Given the description of an element on the screen output the (x, y) to click on. 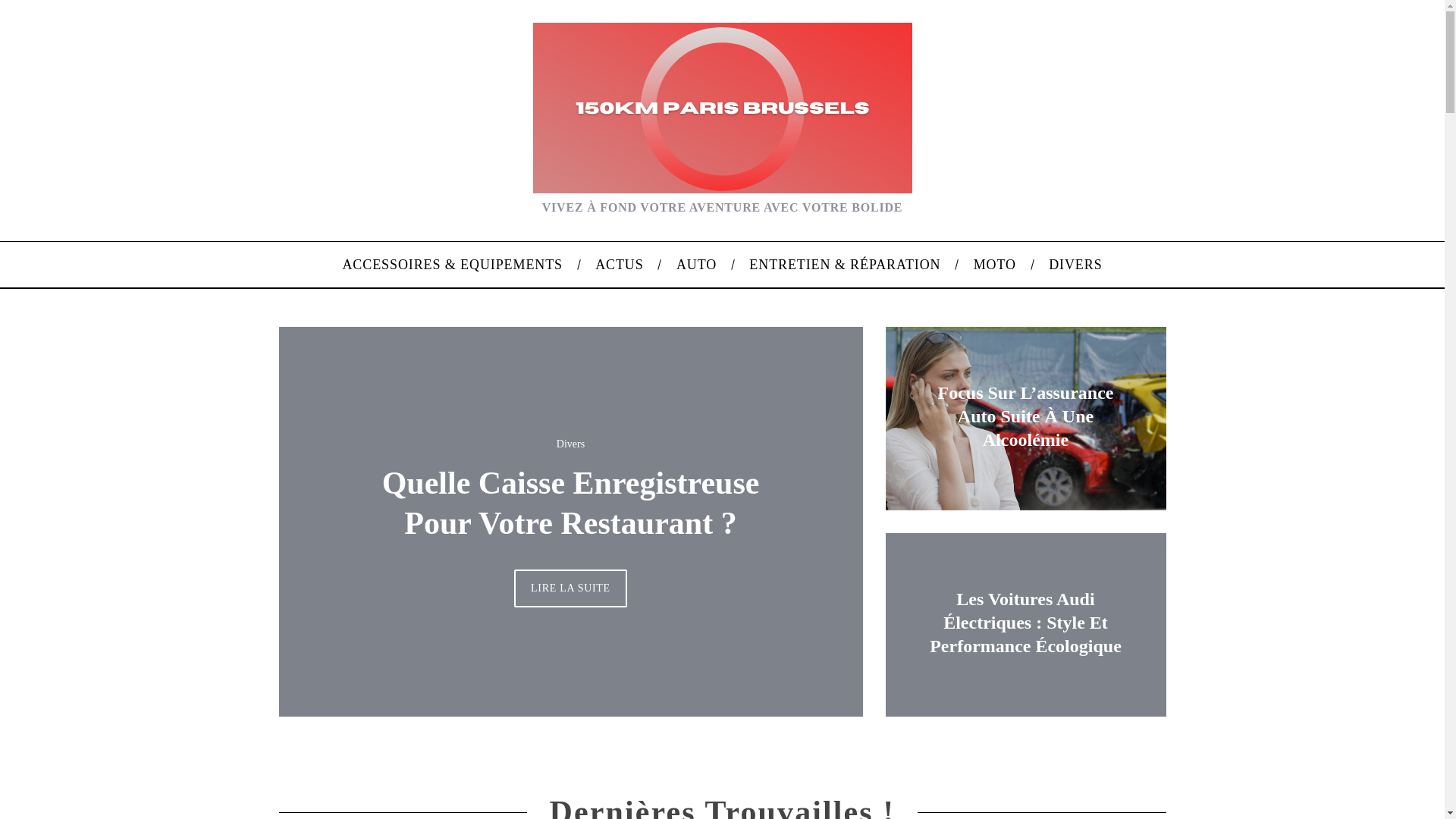
ACTUS Element type: text (619, 264)
Quelle Caisse Enregistreuse Pour Votre Restaurant ? Element type: text (570, 502)
MOTO Element type: text (994, 264)
ACCESSOIRES & EQUIPEMENTS Element type: text (452, 264)
DIVERS Element type: text (1075, 264)
Divers Element type: text (570, 443)
LIRE LA SUITE Element type: text (570, 588)
AUTO Element type: text (695, 264)
